Given the description of an element on the screen output the (x, y) to click on. 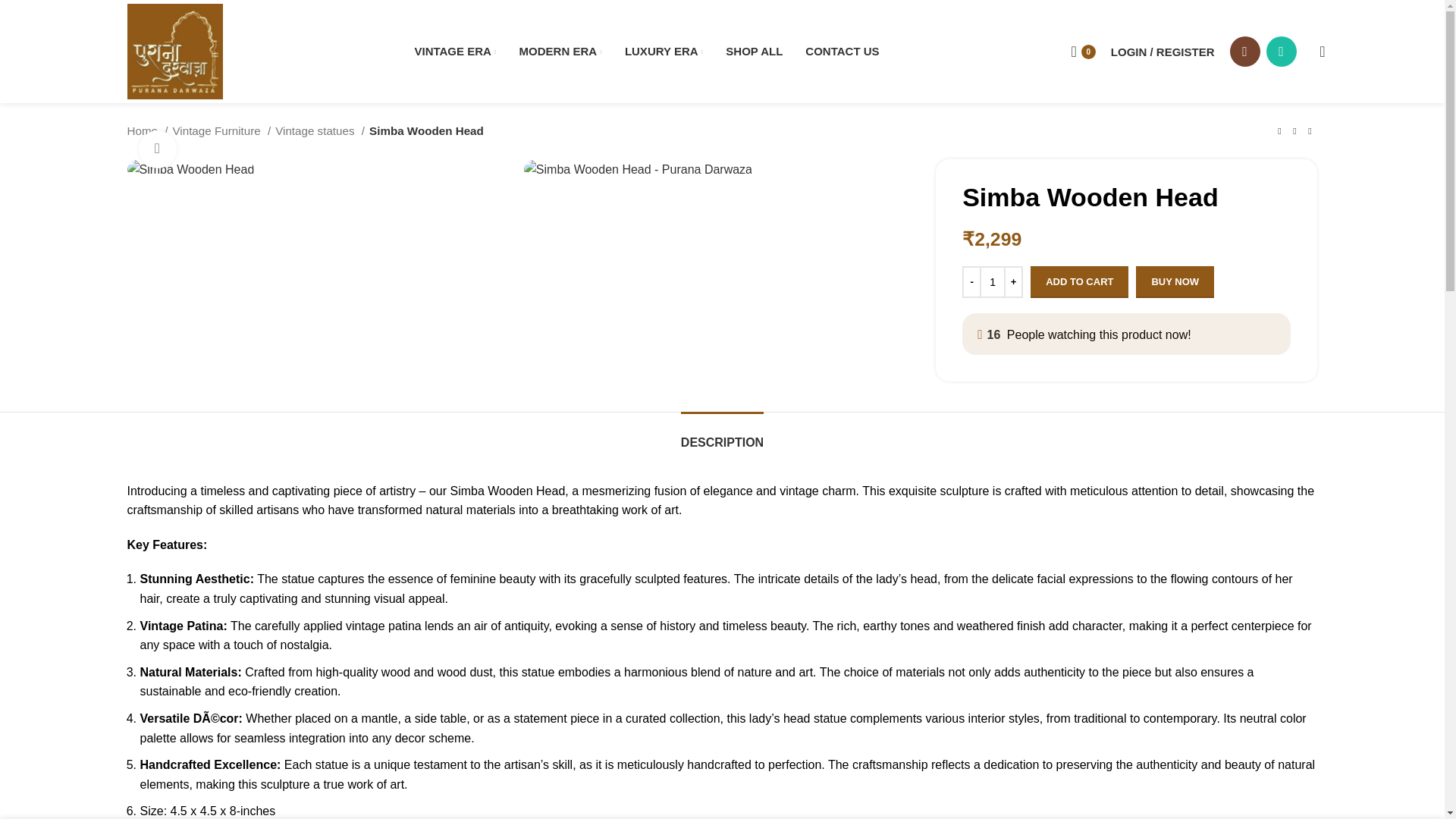
Simba Wooden Head1 (1034, 169)
VINTAGE ERA (454, 51)
MODERN ERA (560, 51)
My account (1163, 51)
Simba Wooden Head2 (638, 169)
Shopping cart (1082, 51)
Simba Wooden Head (191, 169)
